Given the description of an element on the screen output the (x, y) to click on. 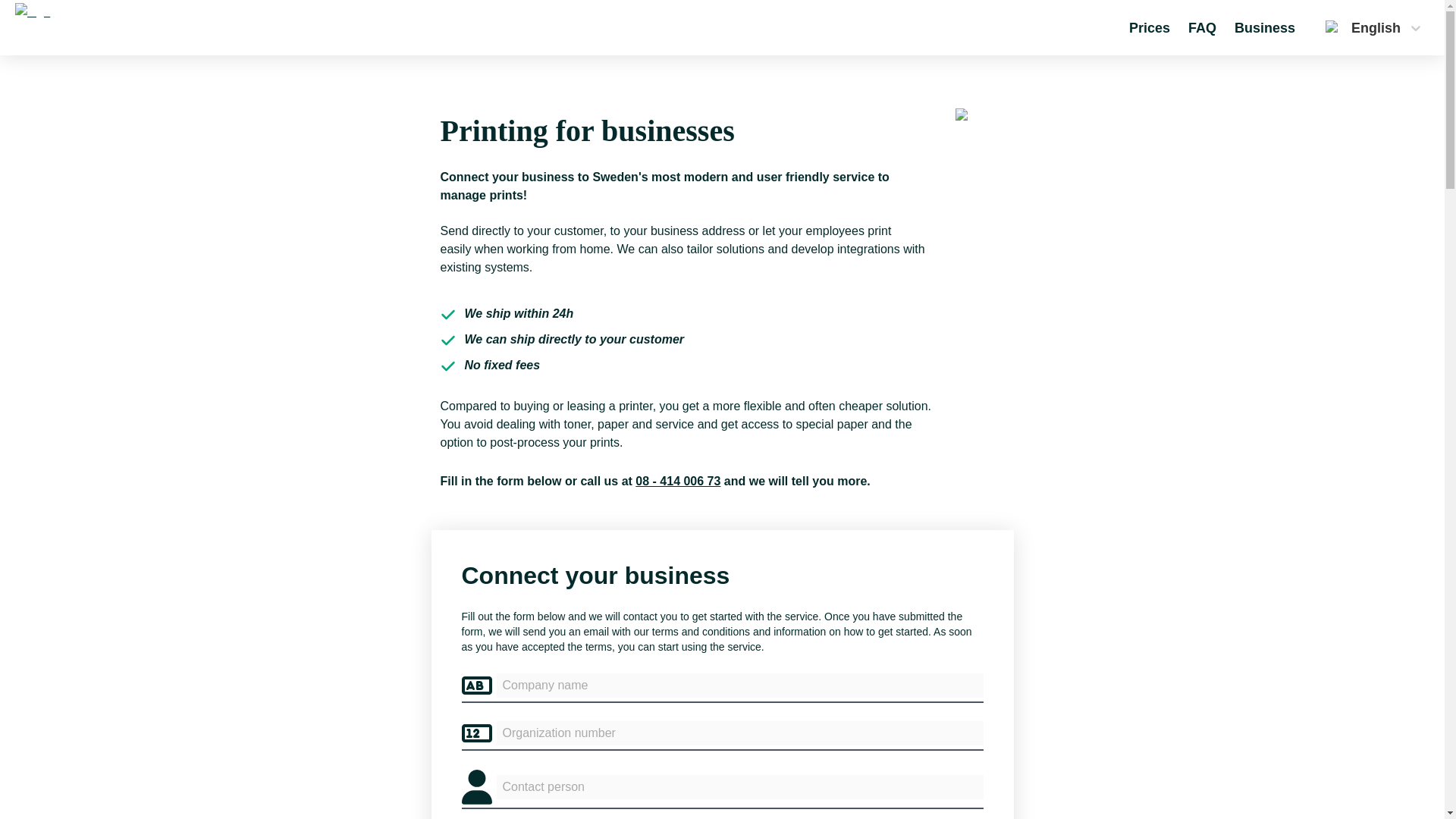
Prices (1149, 26)
08 - 414 006 73 (677, 481)
FAQ (1201, 26)
Business (1264, 26)
